Given the description of an element on the screen output the (x, y) to click on. 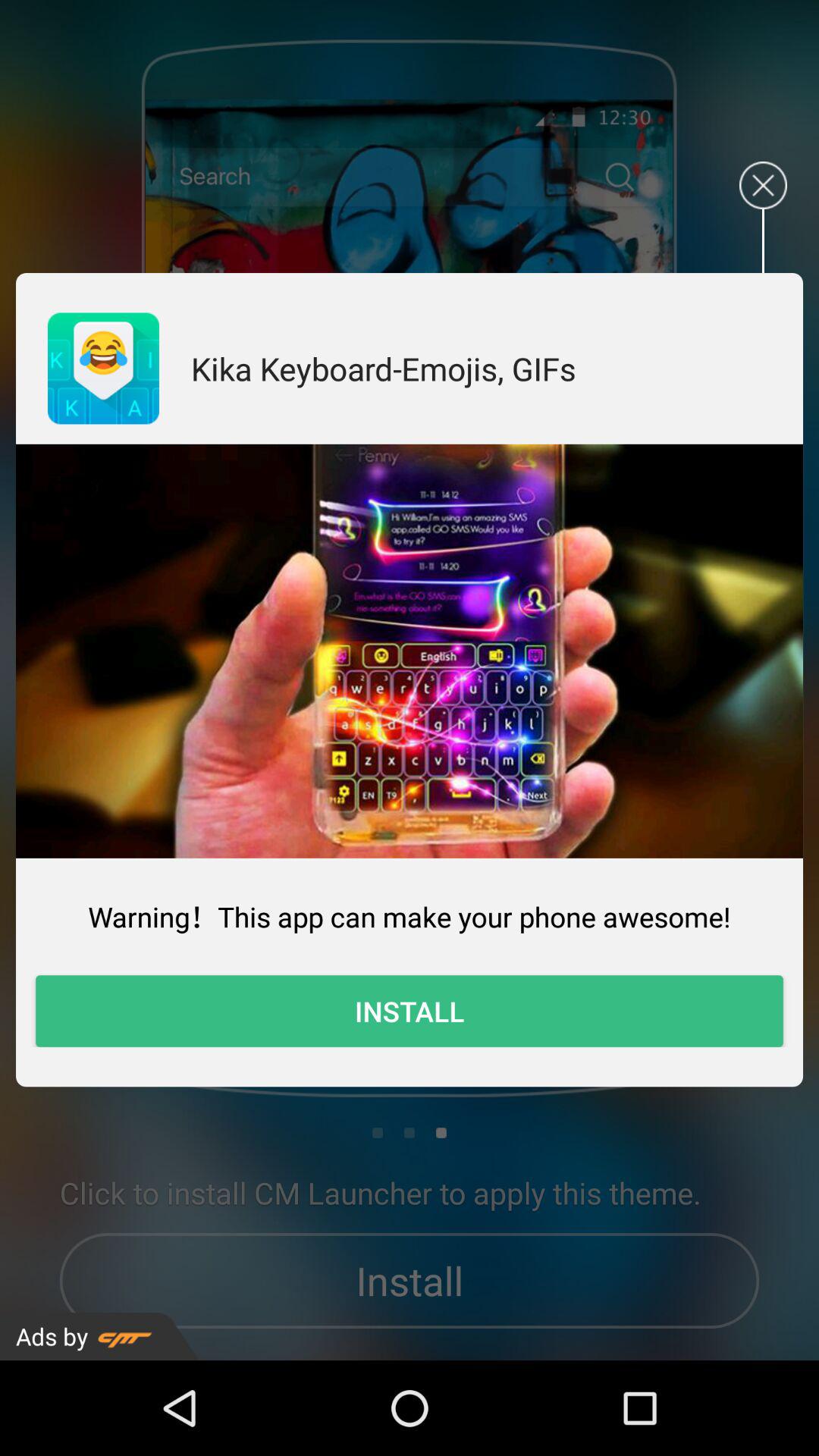
press item at the top (383, 368)
